Given the description of an element on the screen output the (x, y) to click on. 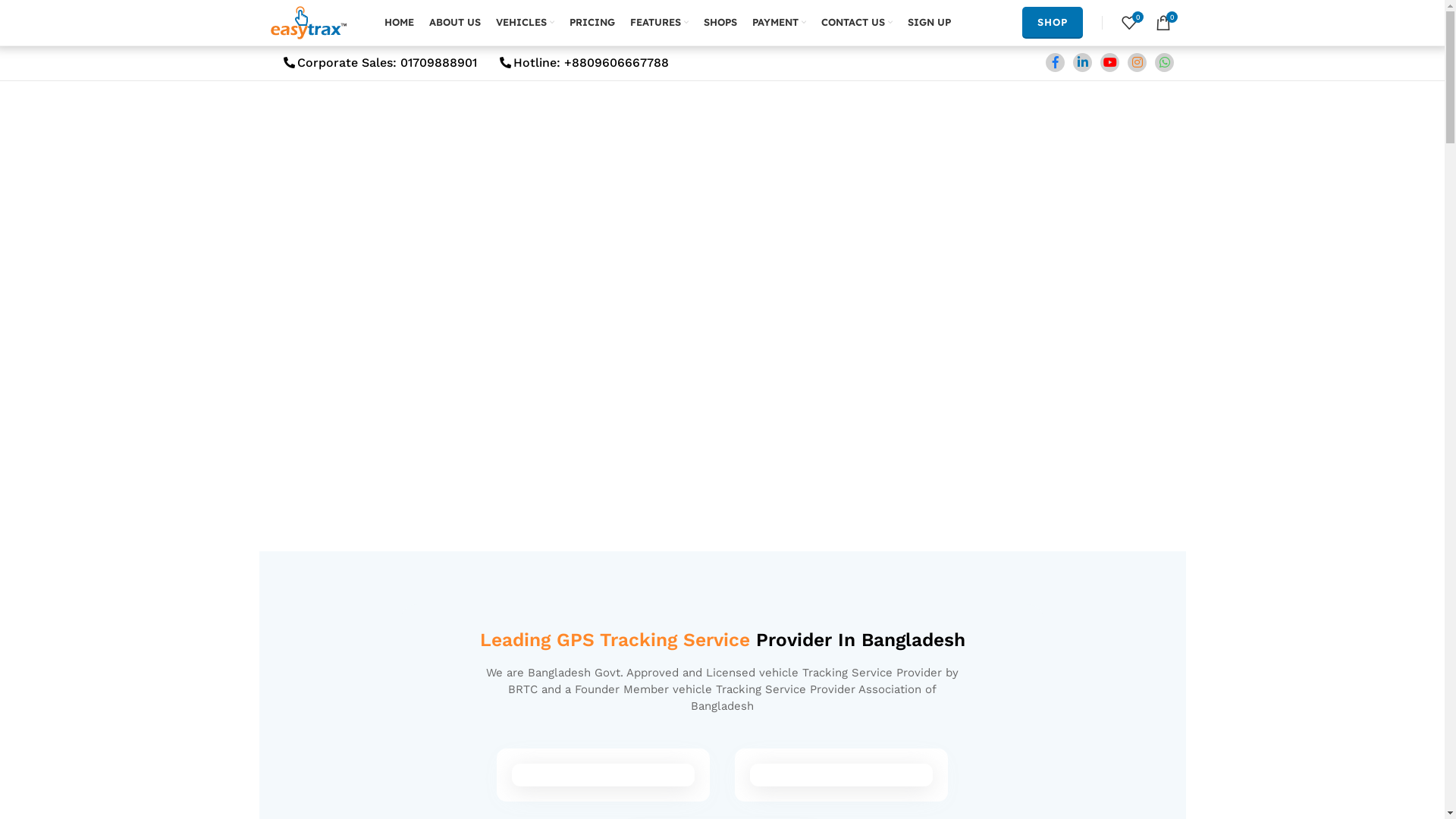
SIGN UP Element type: text (928, 22)
0 Element type: text (1163, 22)
0 Element type: text (1128, 22)
SHOP Element type: text (1052, 22)
HOME Element type: text (398, 22)
CONTACT US Element type: text (855, 22)
PRICING Element type: text (591, 22)
PAYMENT Element type: text (779, 22)
SHOPS Element type: text (720, 22)
VEHICLES Element type: text (524, 22)
FEATURES Element type: text (658, 22)
ABOUT US Element type: text (454, 22)
